Given the description of an element on the screen output the (x, y) to click on. 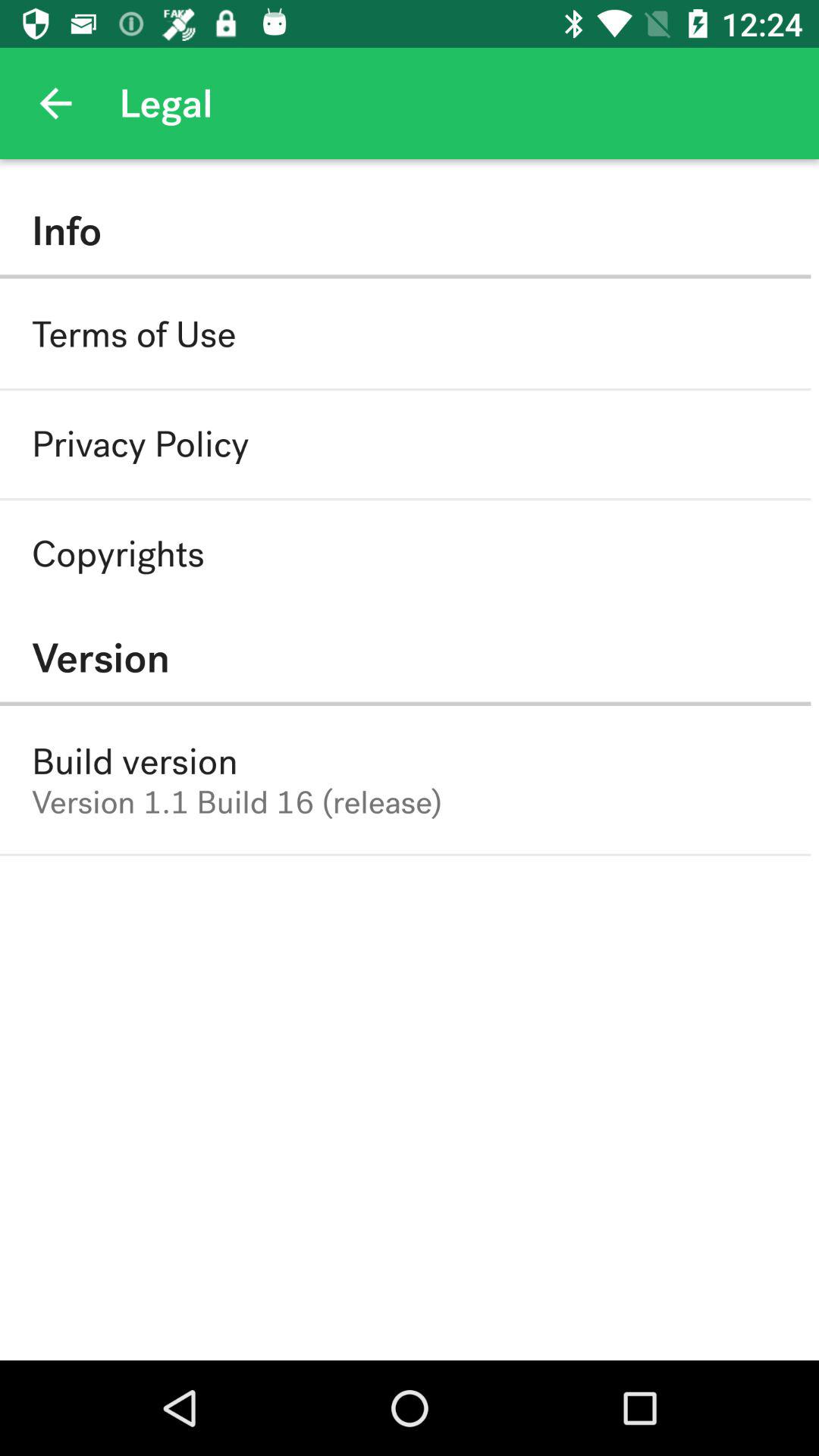
flip to terms of use icon (133, 334)
